Given the description of an element on the screen output the (x, y) to click on. 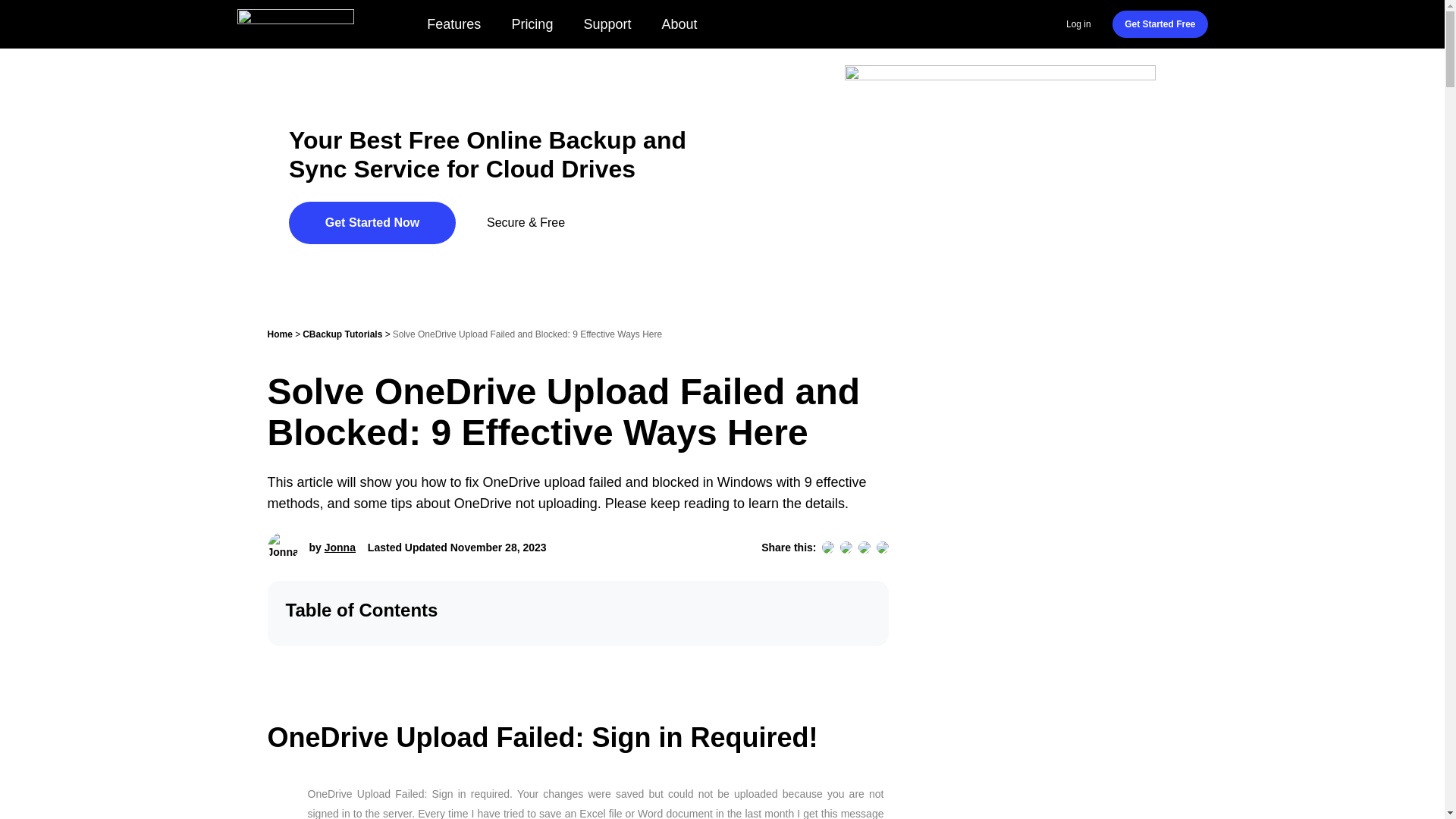
Get Started Free (1159, 23)
Home (279, 334)
Log in (1077, 24)
About (679, 23)
Pricing (532, 23)
Support (606, 23)
CBackup Tutorials (341, 334)
Jonna (339, 547)
Features (453, 23)
Get Started Now (371, 222)
